Given the description of an element on the screen output the (x, y) to click on. 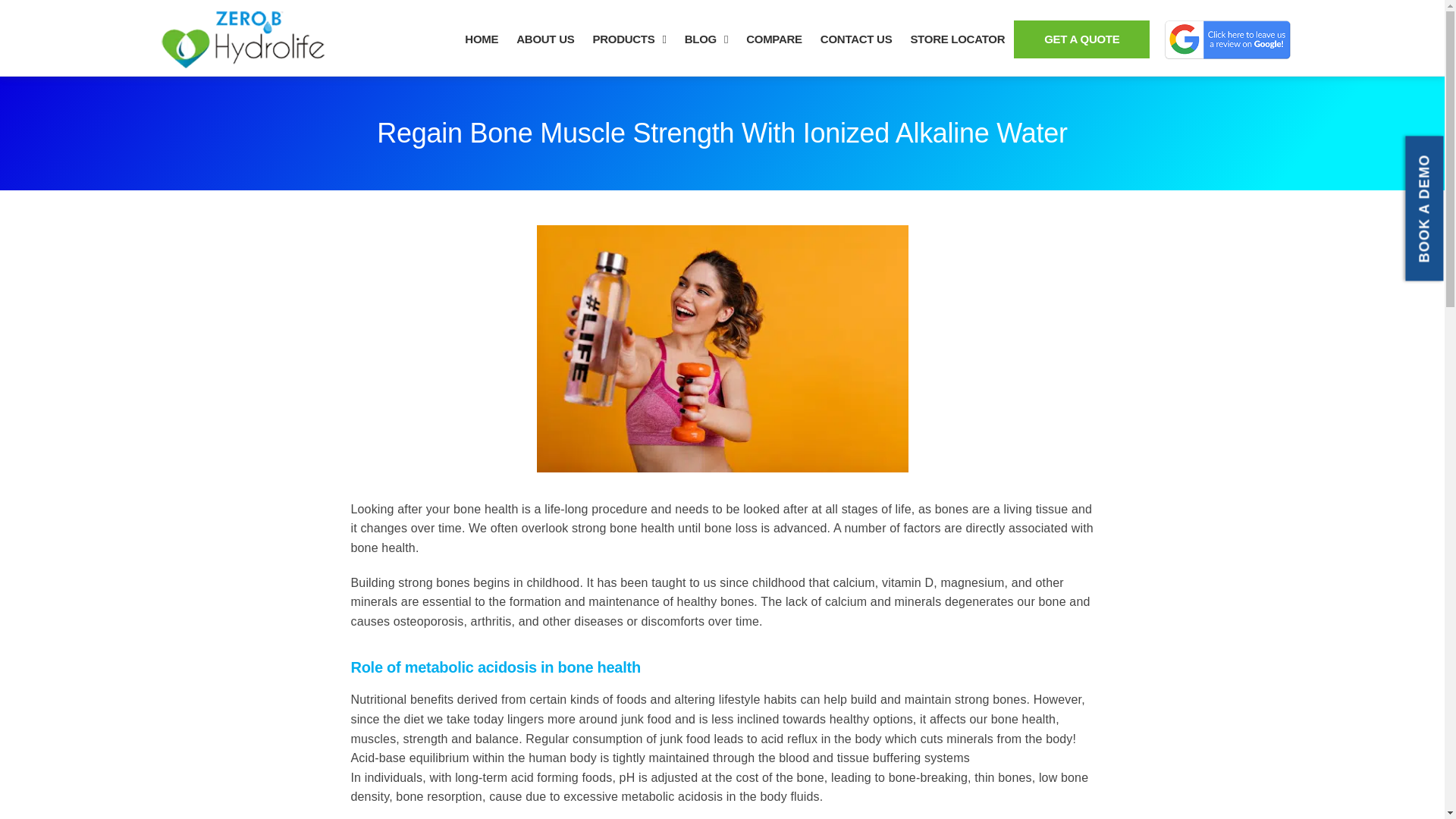
COMPARE (773, 39)
CONTACT US (855, 39)
GET A QUOTE (1081, 39)
BLOG (705, 39)
STORE LOCATOR (957, 39)
ABOUT US (544, 39)
HOME (480, 39)
PRODUCTS (629, 39)
